Given the description of an element on the screen output the (x, y) to click on. 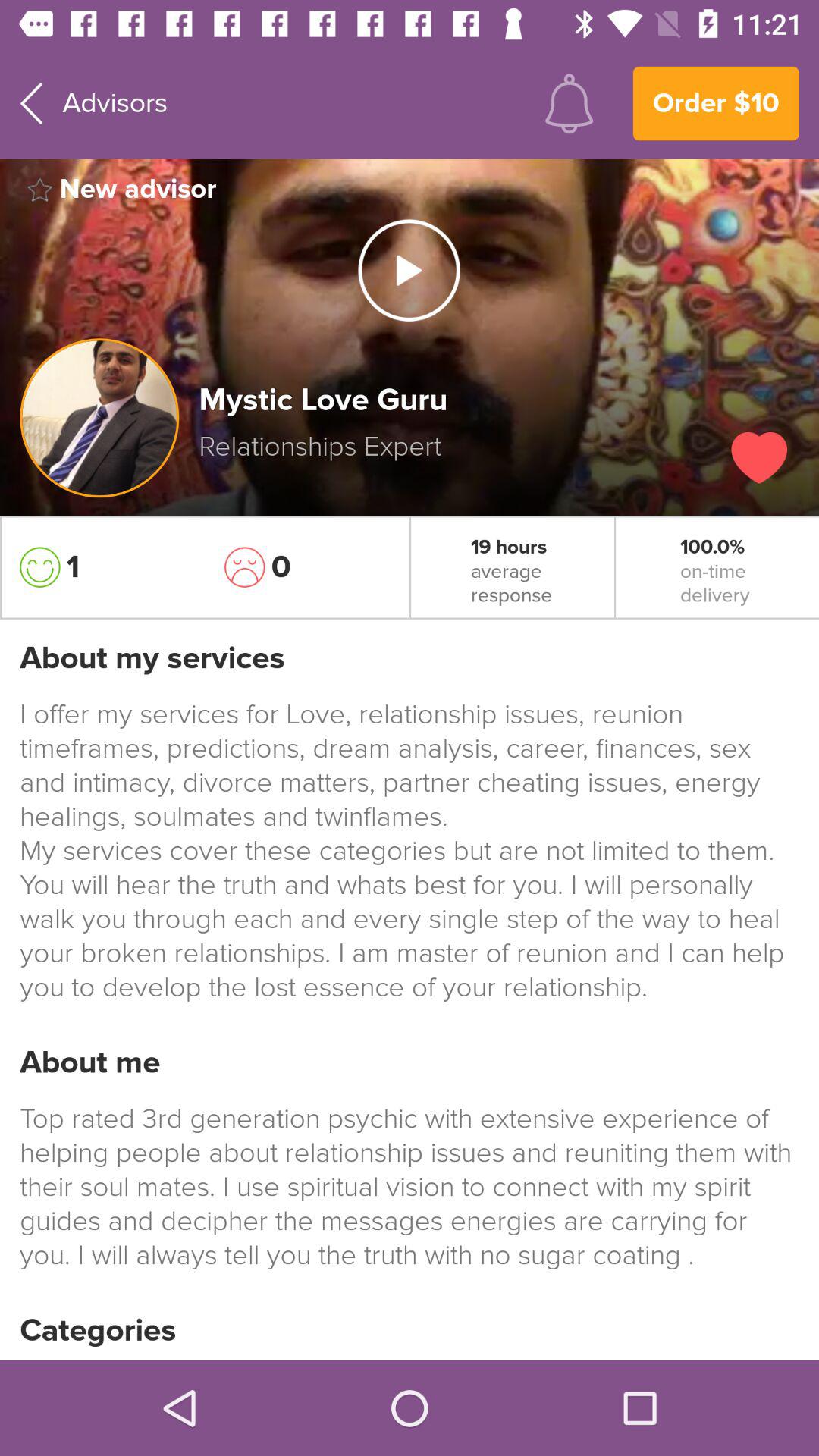
turn on the item on the left (102, 567)
